Given the description of an element on the screen output the (x, y) to click on. 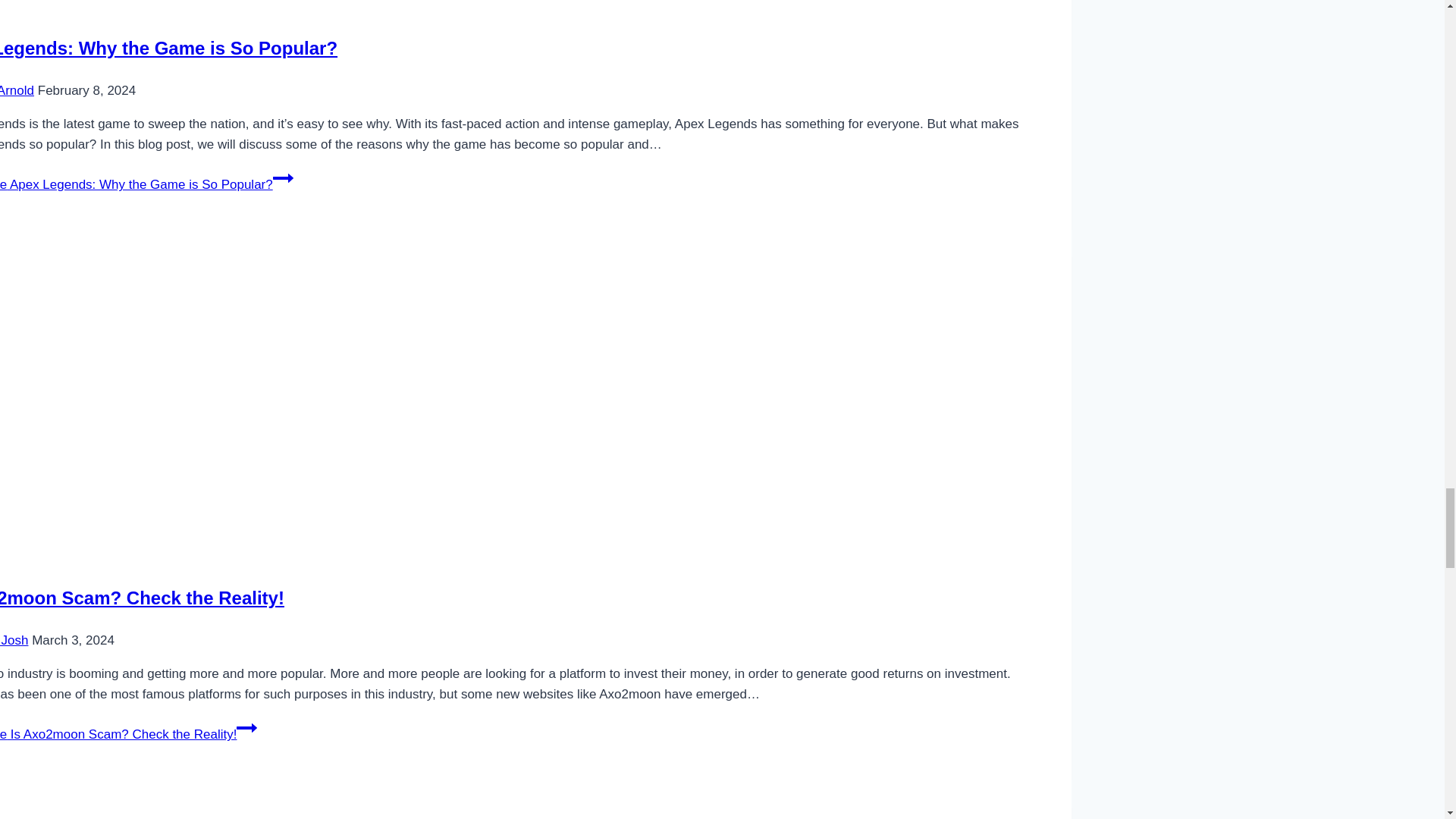
Continue (246, 727)
Continue (283, 178)
